Given the description of an element on the screen output the (x, y) to click on. 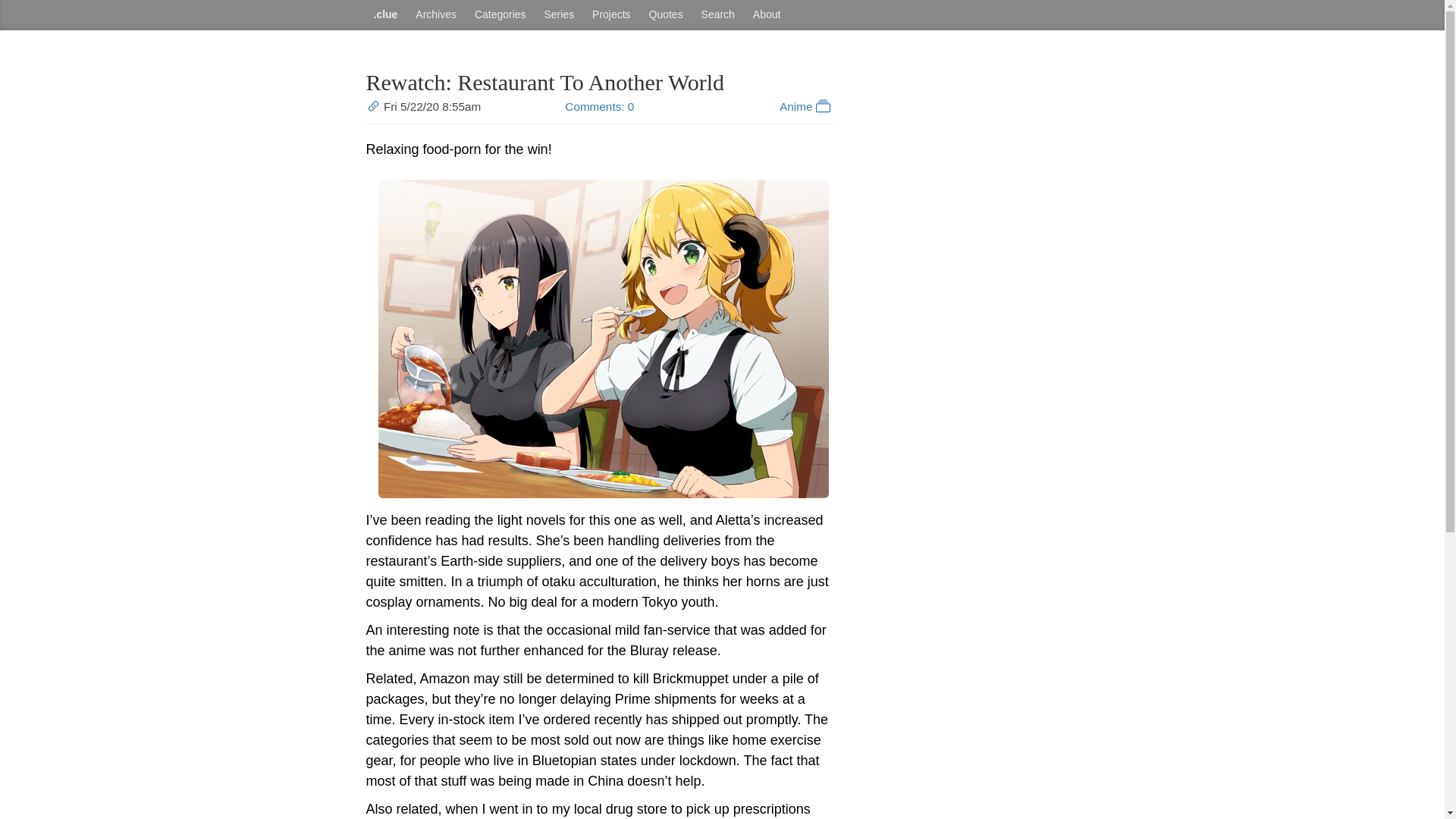
Archives (435, 15)
Categories (500, 15)
Series (557, 15)
.clue (384, 15)
Quotes (666, 15)
Anime   (805, 106)
Search (718, 15)
About (767, 15)
Projects (612, 15)
Comments: 0 (598, 106)
